Given the description of an element on the screen output the (x, y) to click on. 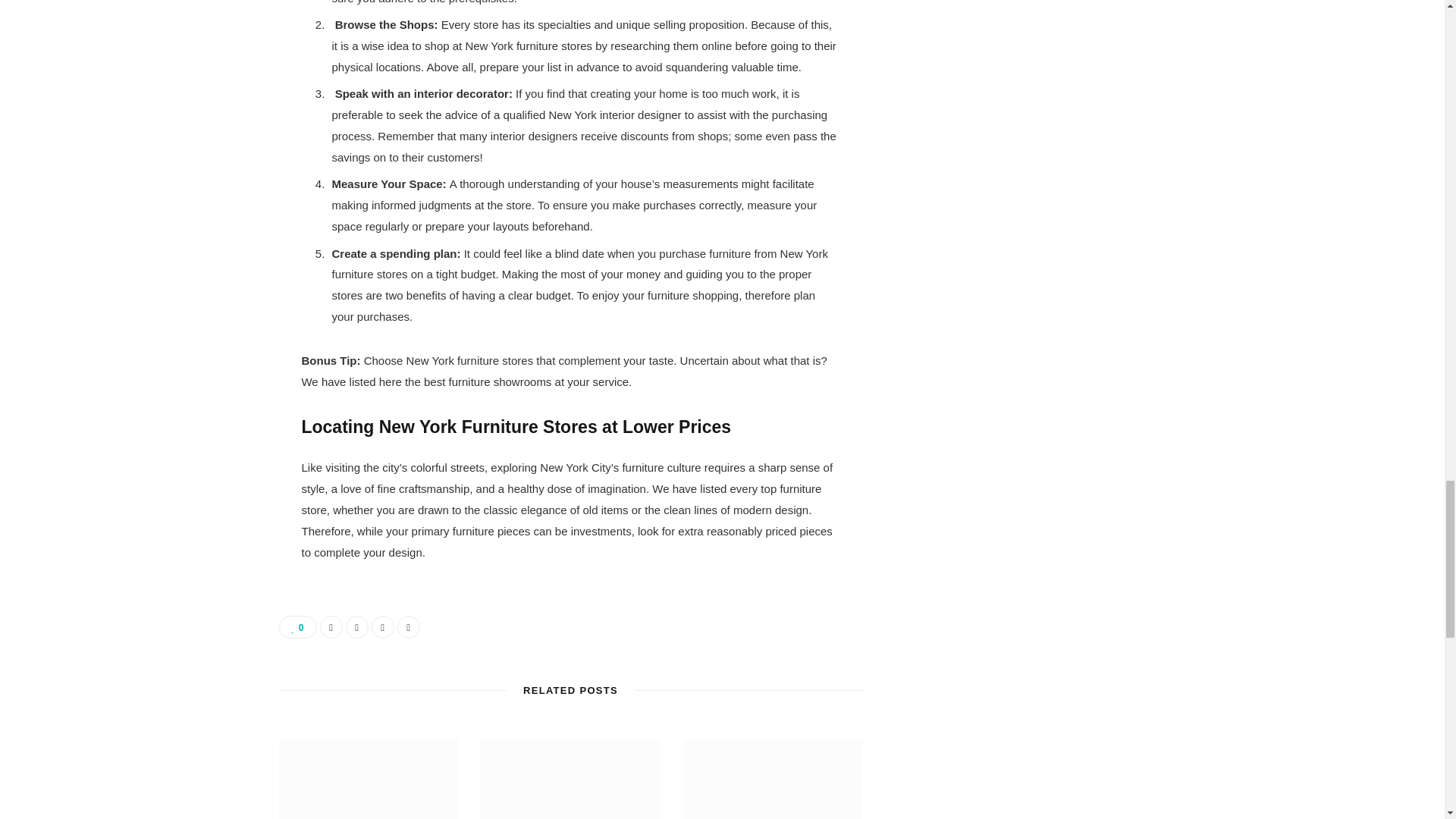
Share on Twitter (357, 626)
Furniture Stores in San Antonio, Texas (368, 779)
Pinterest (382, 626)
0 (298, 626)
Furniture Stores in Fort Worth (570, 779)
Furniture Stores in Baltimore (772, 779)
Email (408, 626)
Share on Facebook (331, 626)
